Given the description of an element on the screen output the (x, y) to click on. 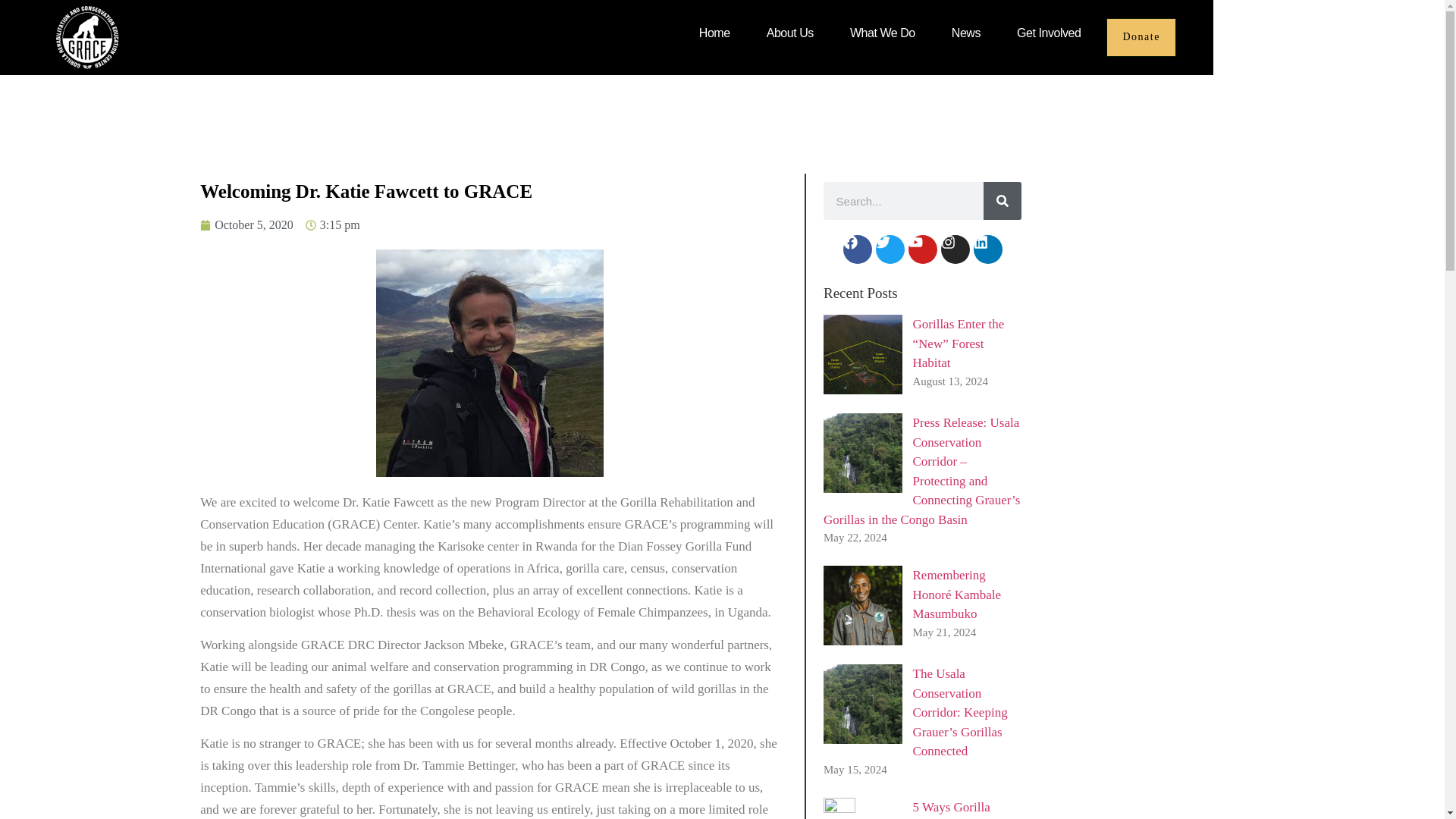
About Us (789, 33)
News (966, 33)
Home (714, 33)
What We Do (882, 33)
Get Involved (1048, 33)
